Given the description of an element on the screen output the (x, y) to click on. 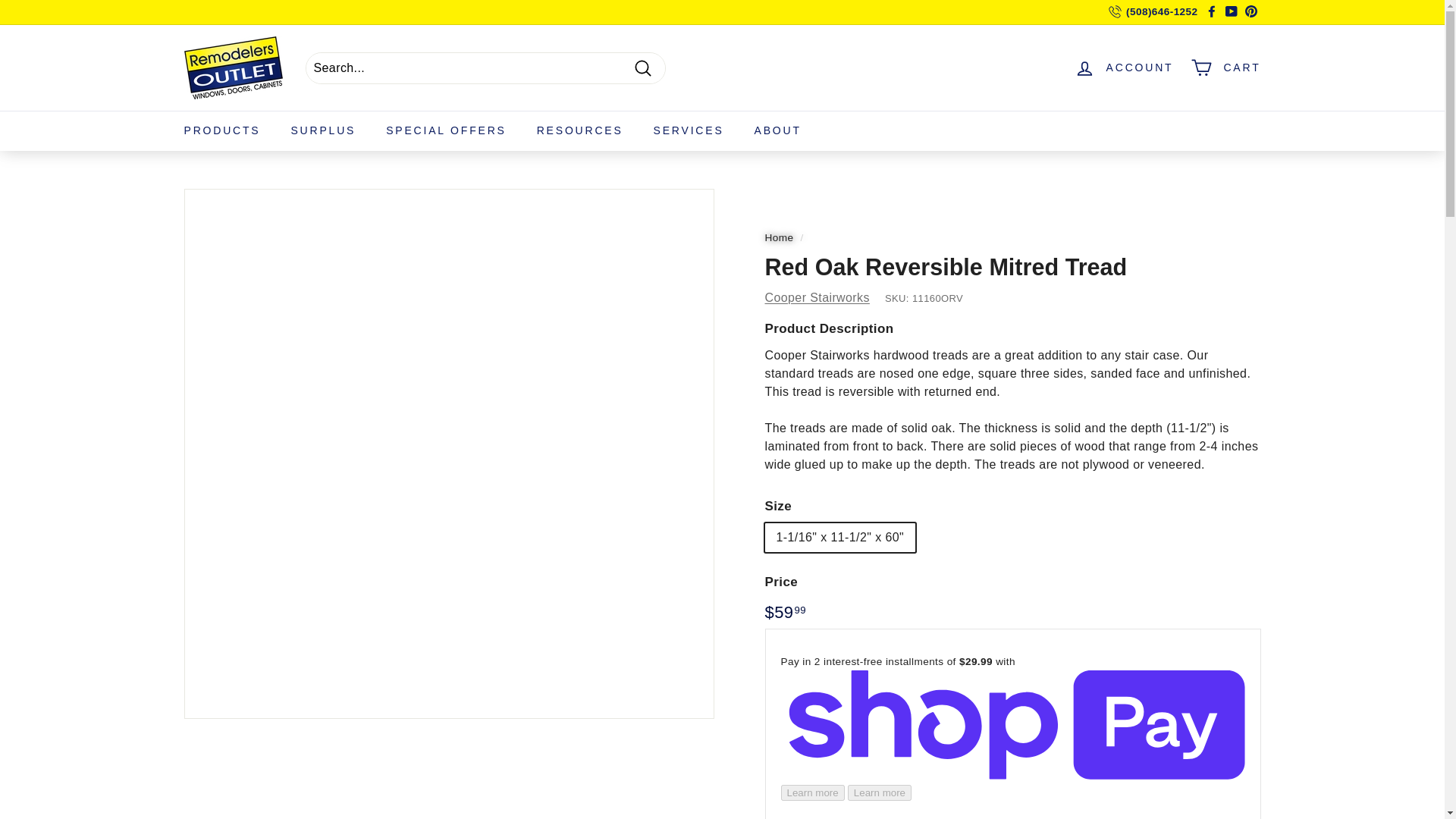
PRODUCTS (221, 130)
ACCOUNT (1123, 67)
Back to the frontpage (778, 237)
Cooper Stairworks (816, 297)
